Given the description of an element on the screen output the (x, y) to click on. 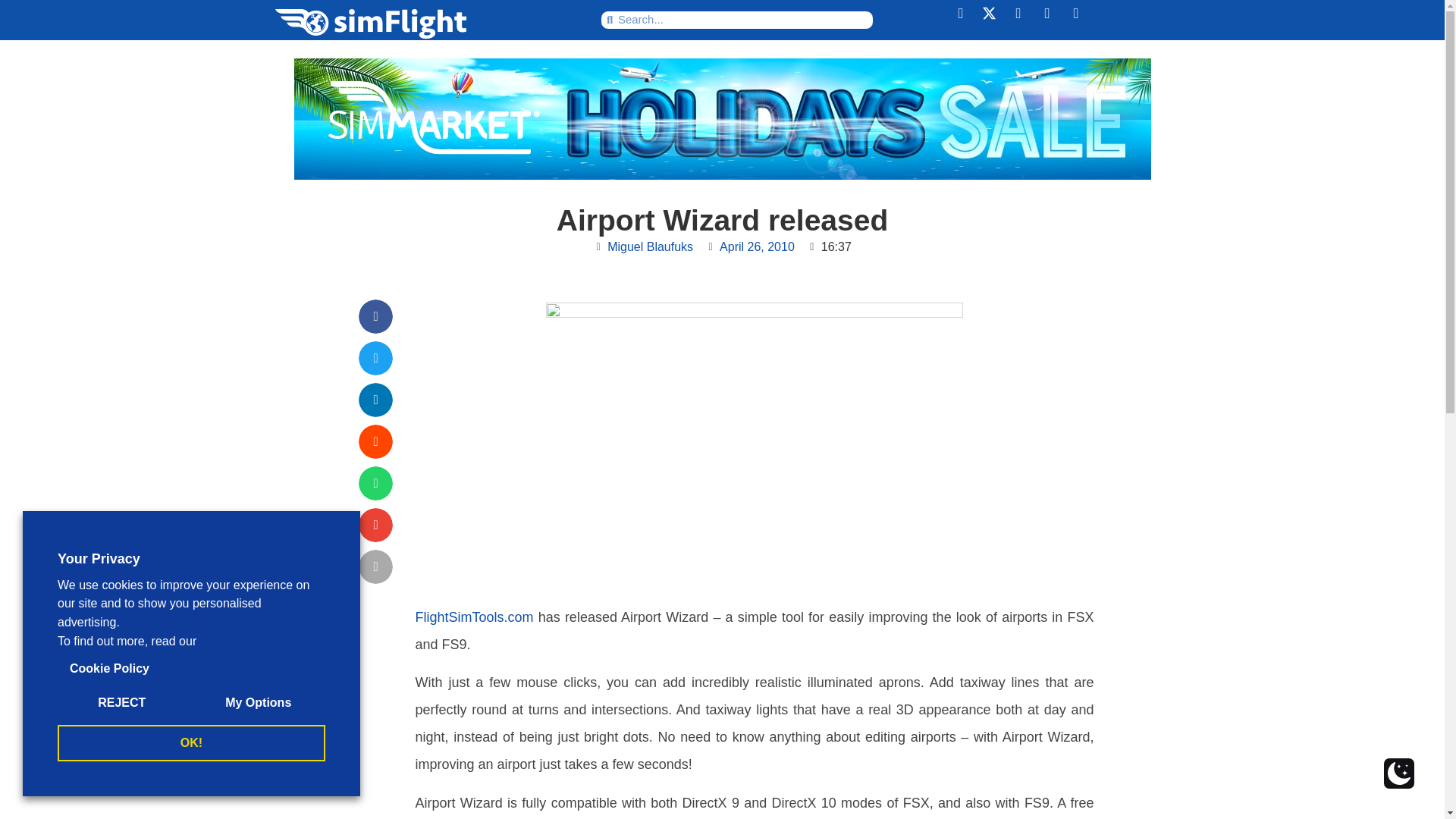
FlightSimTools.com (474, 616)
Miguel Blaufuks (642, 247)
FlightSimTools.com (474, 616)
April 26, 2010 (749, 247)
